Given the description of an element on the screen output the (x, y) to click on. 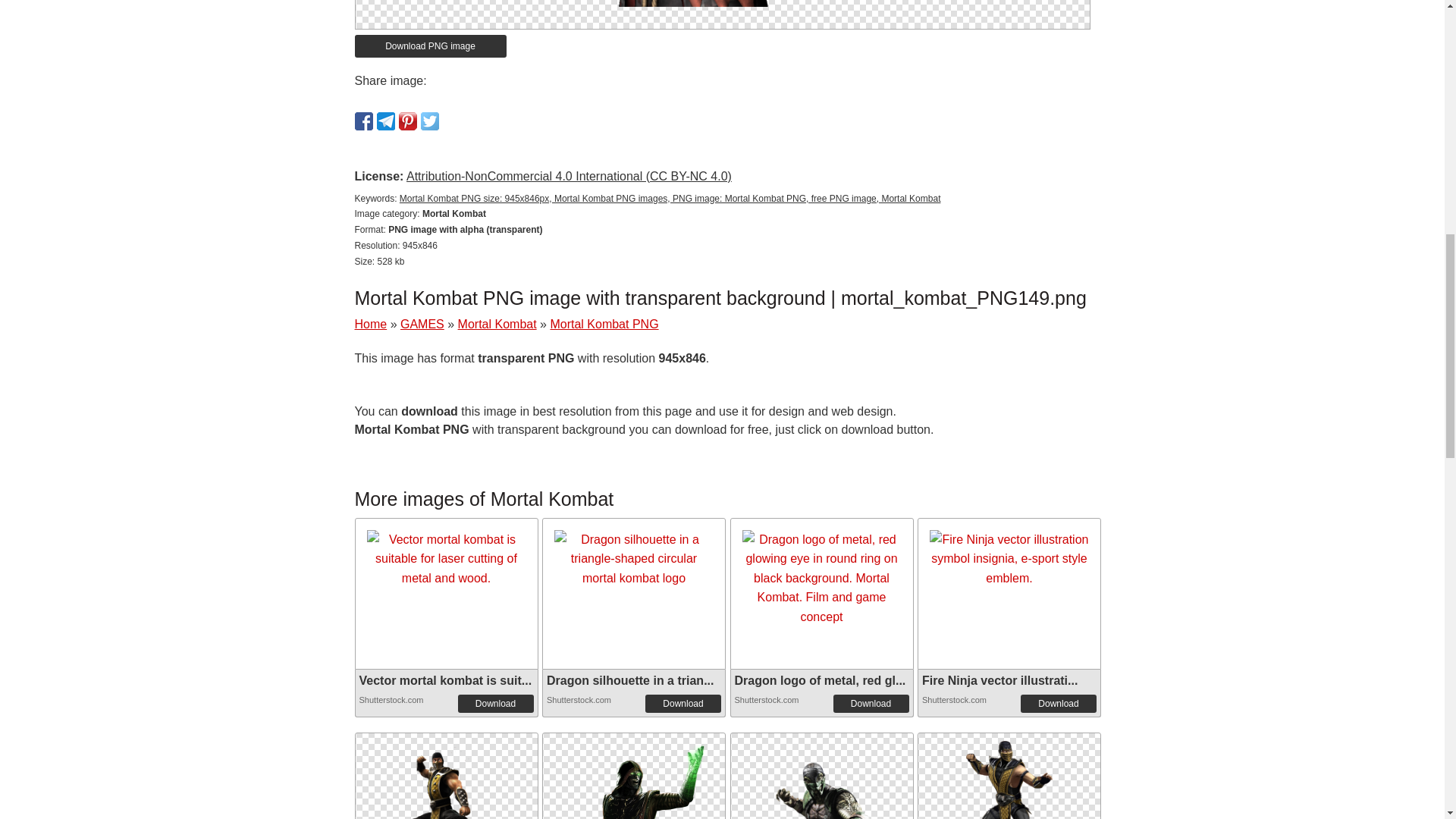
Mortal Kombat PNG (604, 323)
Download (870, 703)
Mortal Kombat PNG (722, 3)
Share in Facebook (363, 121)
Dragon logo of metal, red gl... (819, 680)
Mortal Kombat PNG (821, 776)
Download (1058, 703)
Mortal Kombat PNG (445, 803)
Mortal Kombat (497, 323)
Share in Telegram (384, 121)
Dragon silhouette in a trian... (630, 680)
Mortal Kombat PNG (821, 803)
